Given the description of an element on the screen output the (x, y) to click on. 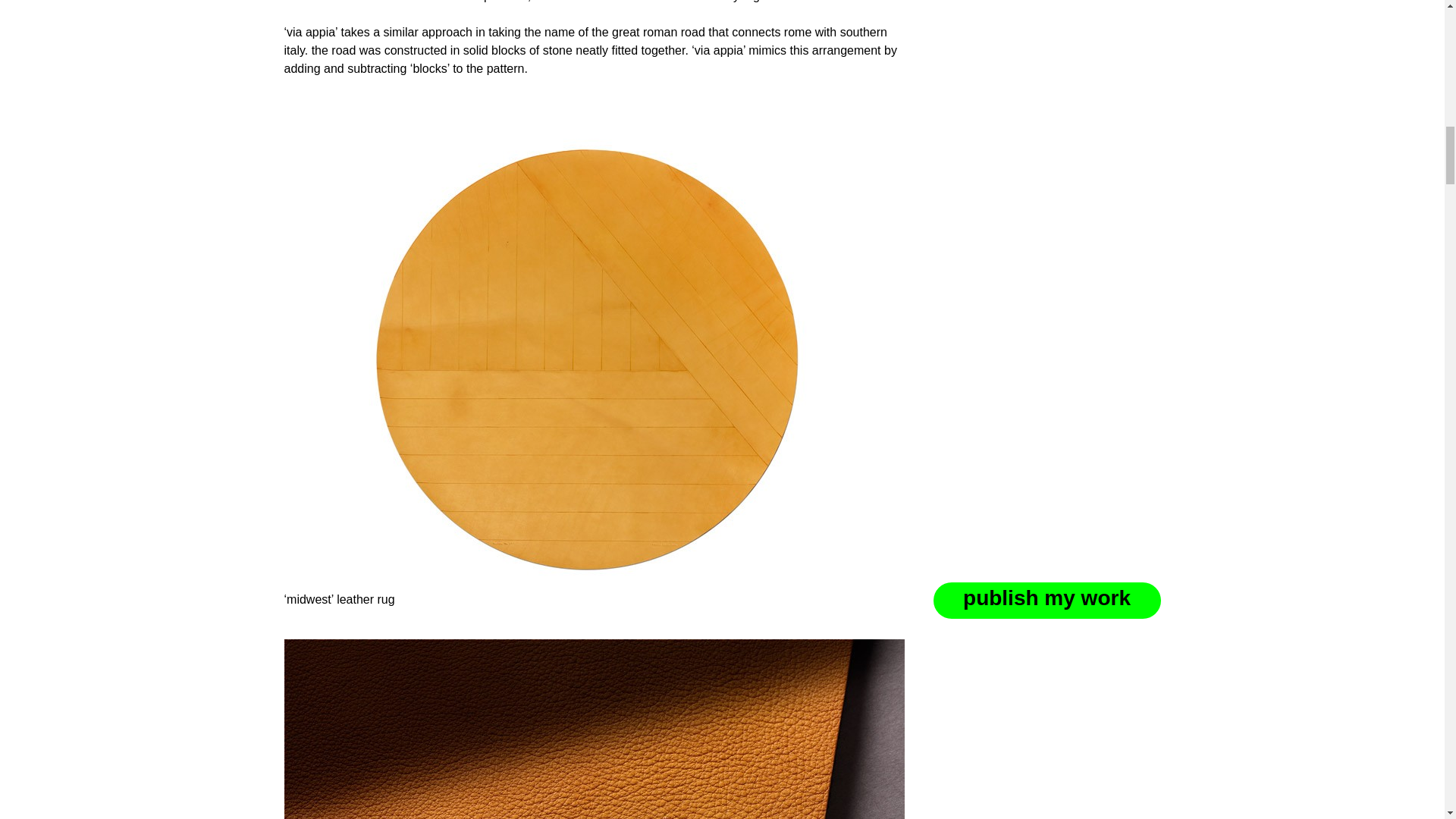
see sample (1052, 262)
subscribe (986, 350)
